Given the description of an element on the screen output the (x, y) to click on. 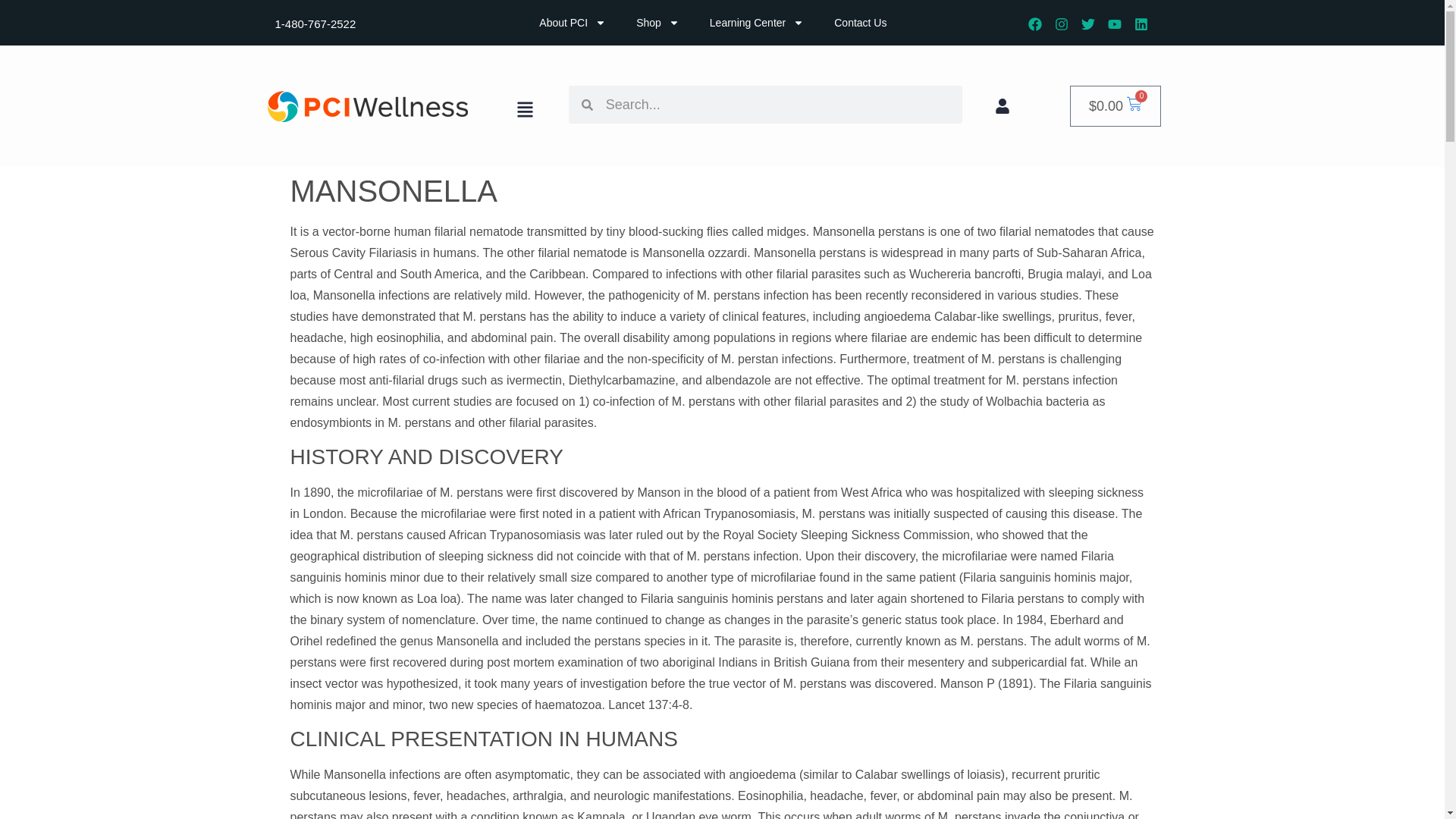
About PCI (572, 22)
Contact Us (859, 22)
Learning Center (756, 22)
Shop (657, 22)
